Given the description of an element on the screen output the (x, y) to click on. 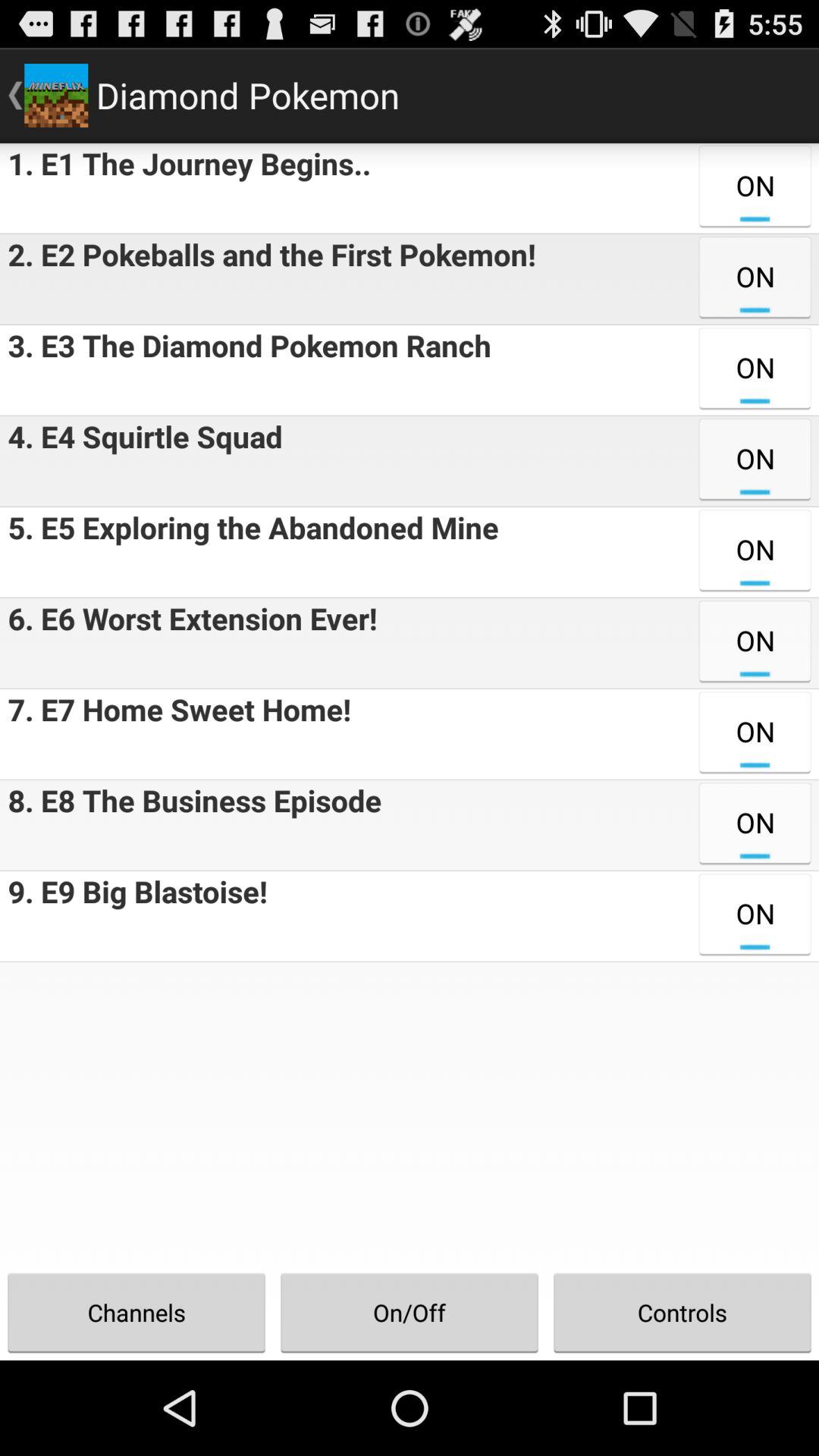
turn on the icon to the left of the on item (185, 188)
